Given the description of an element on the screen output the (x, y) to click on. 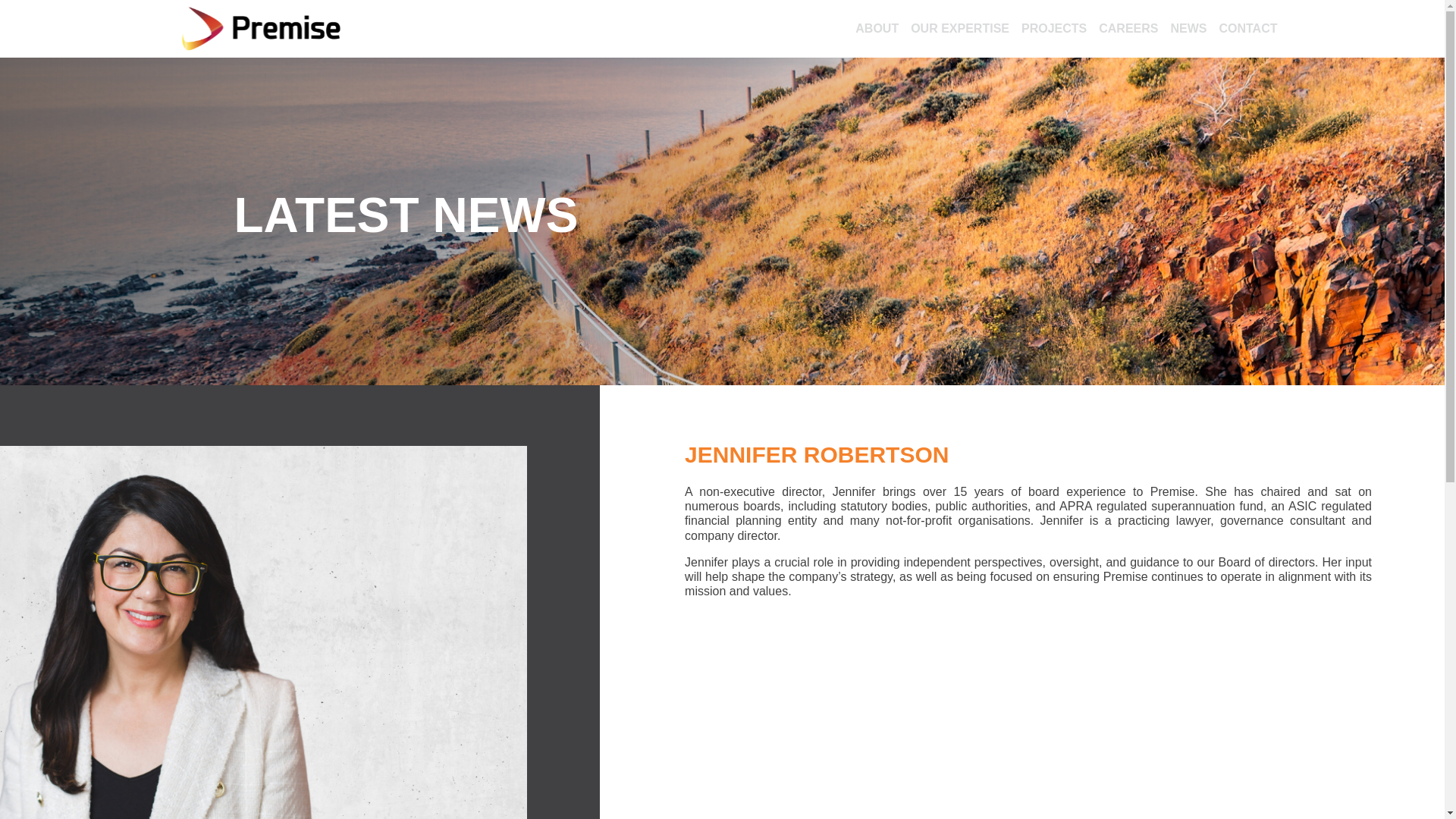
PROJECTS (1053, 28)
Projects (1053, 28)
CONTACT (1247, 28)
NEWS (1187, 28)
Contact (1247, 28)
Our Expertise (959, 28)
ABOUT (876, 28)
About (876, 28)
OUR EXPERTISE (959, 28)
CAREERS (1128, 28)
